Given the description of an element on the screen output the (x, y) to click on. 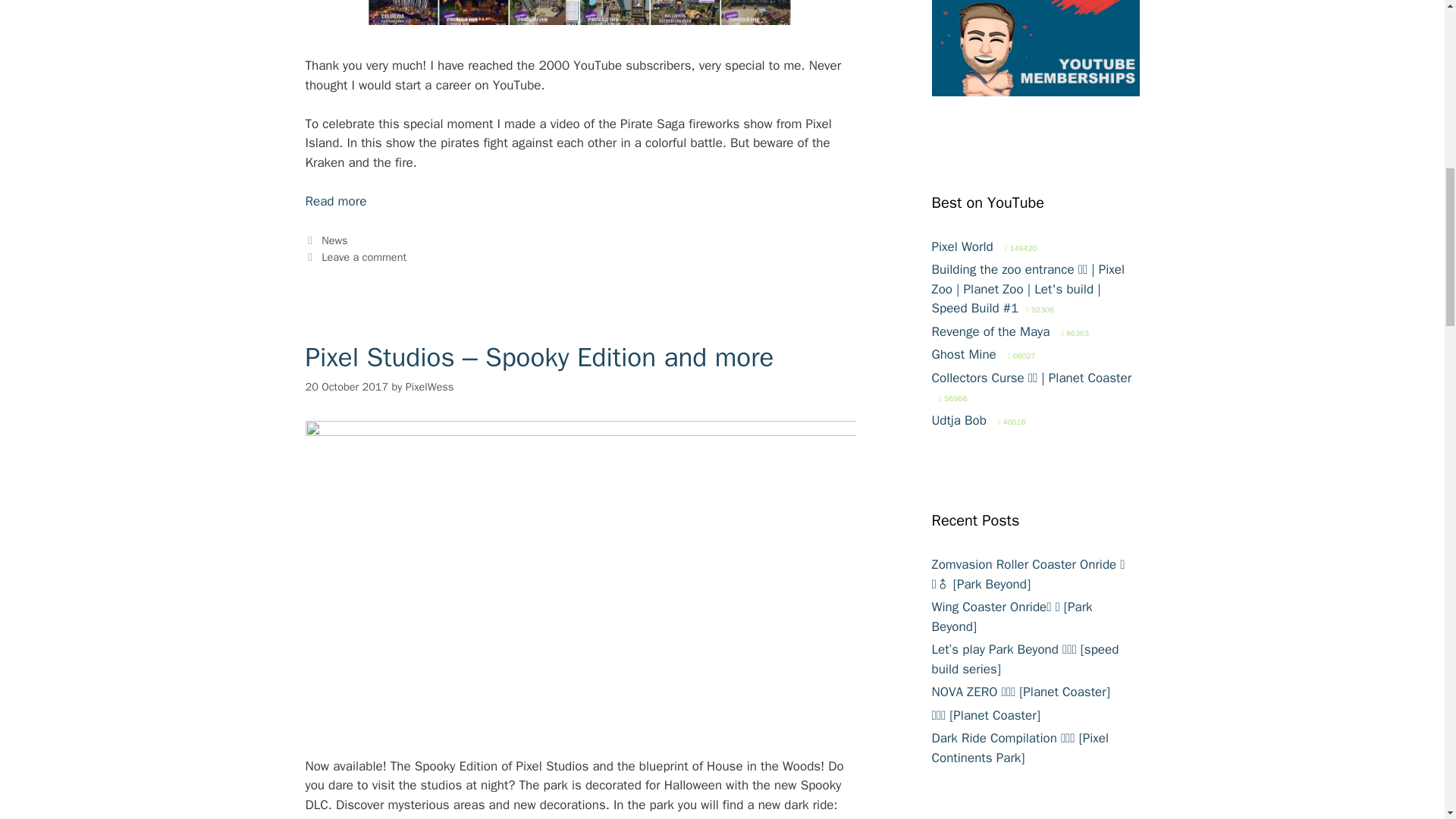
Leave a comment (363, 256)
PixelWess (430, 386)
Read more (335, 201)
News (334, 240)
